Given the description of an element on the screen output the (x, y) to click on. 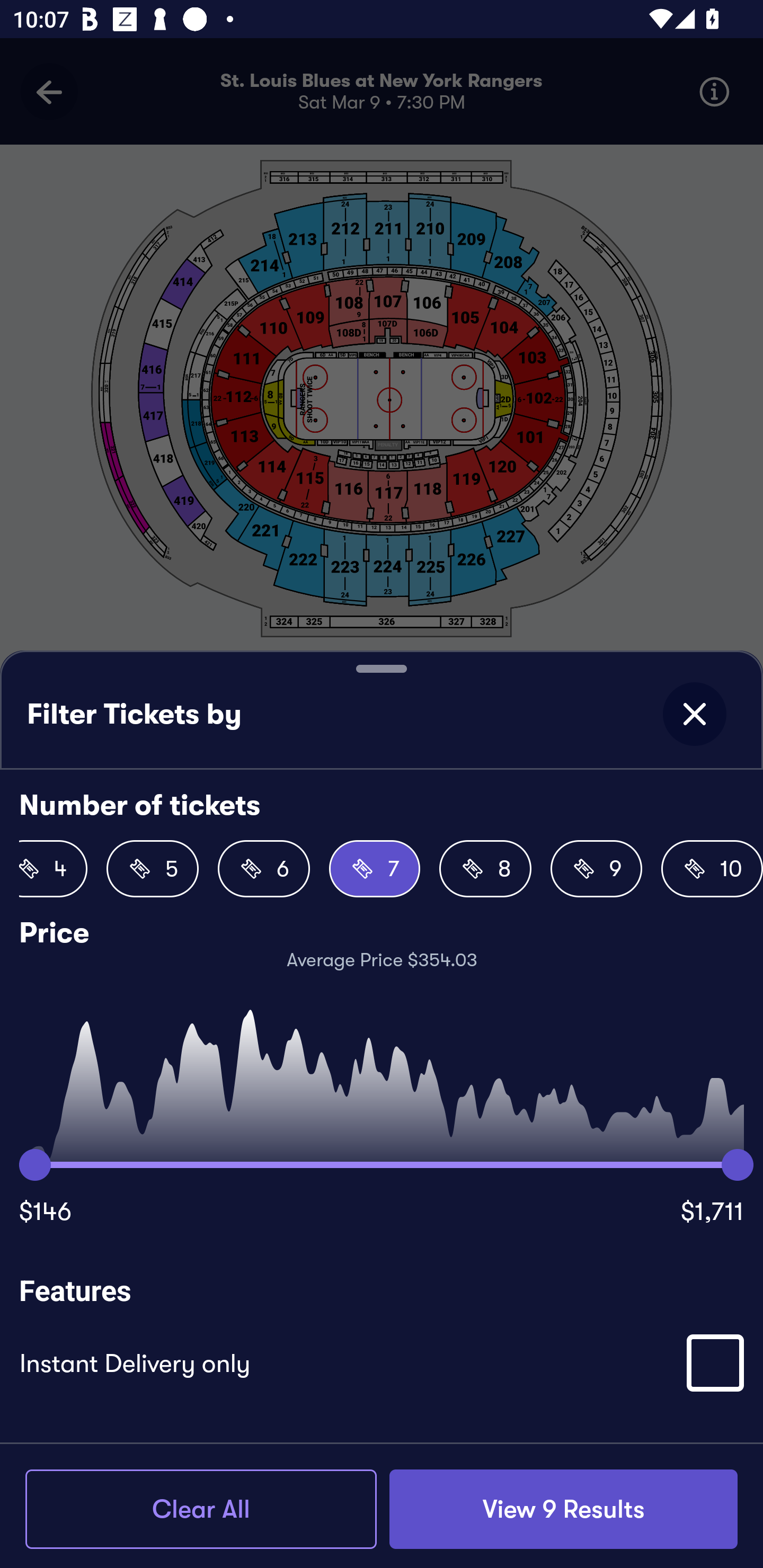
close (694, 714)
4 (53, 868)
5 (152, 868)
6 (263, 868)
7 (374, 868)
8 (485, 868)
9 (596, 868)
10 (712, 868)
Clear All (200, 1509)
View 9 Results (563, 1509)
